Given the description of an element on the screen output the (x, y) to click on. 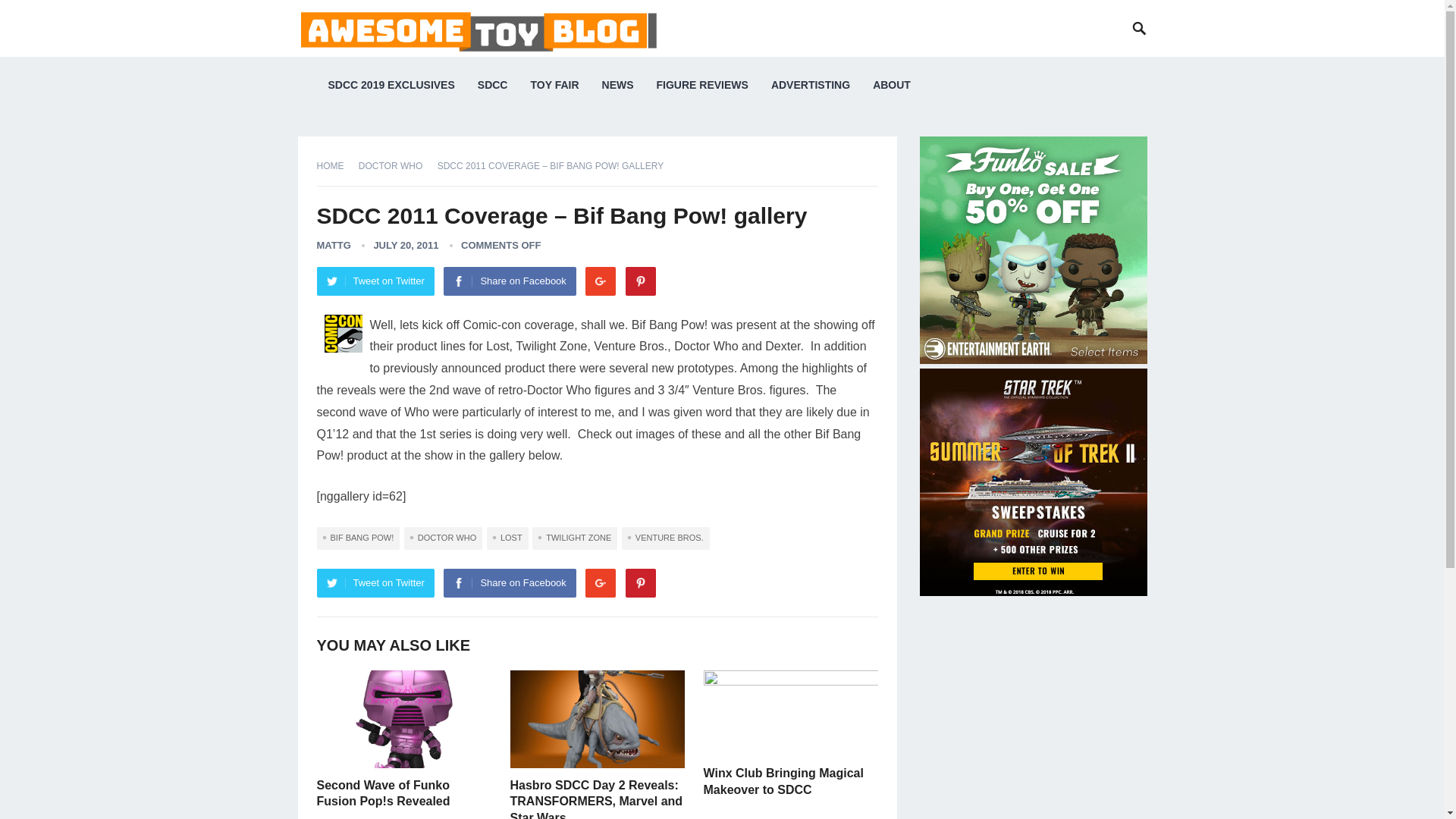
DOCTOR WHO (442, 538)
MATTG (333, 244)
Pinterest (641, 280)
HOME (336, 165)
View all posts in Doctor Who (395, 165)
Pinterest (641, 582)
ABOUT (891, 84)
Posts by MattG (333, 244)
Share on Facebook (509, 582)
DOCTOR WHO (395, 165)
NEWS (618, 84)
cc08 (343, 333)
Share on Facebook (509, 280)
SDCC 2019 EXCLUSIVES (391, 84)
